Given the description of an element on the screen output the (x, y) to click on. 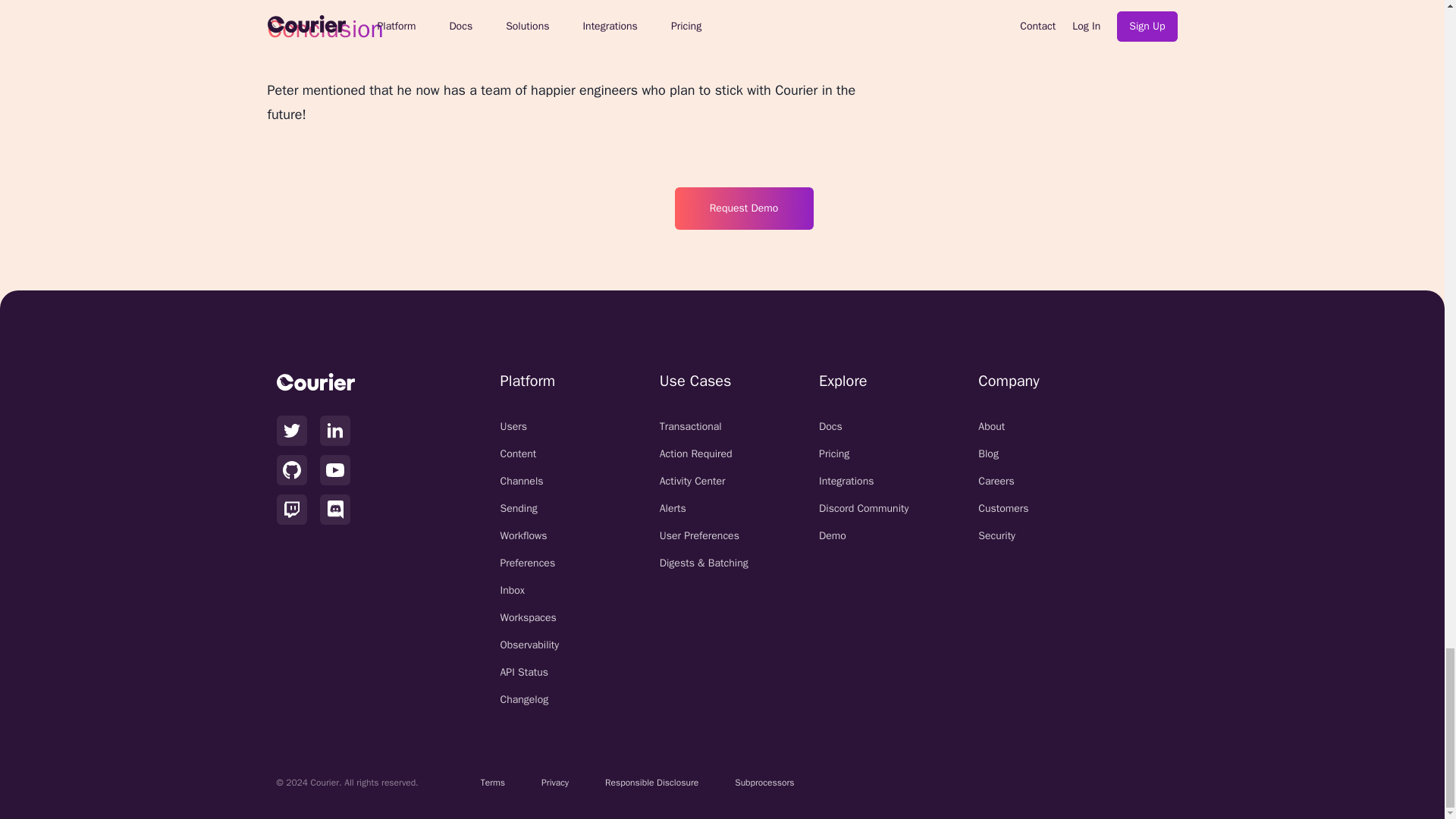
Preferences (544, 563)
Discord Community (863, 508)
Channels (544, 481)
Transactional (704, 426)
About (1022, 426)
Docs (863, 426)
Users (544, 426)
Observability (544, 645)
Alerts (704, 508)
Sending (544, 508)
